Given the description of an element on the screen output the (x, y) to click on. 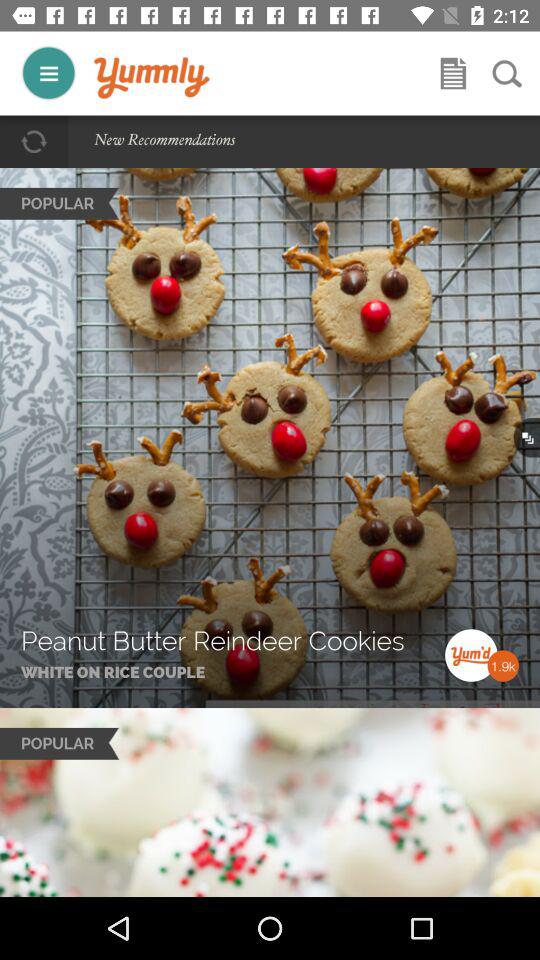
choose icon next to peanut butter reindeer (445, 629)
